Given the description of an element on the screen output the (x, y) to click on. 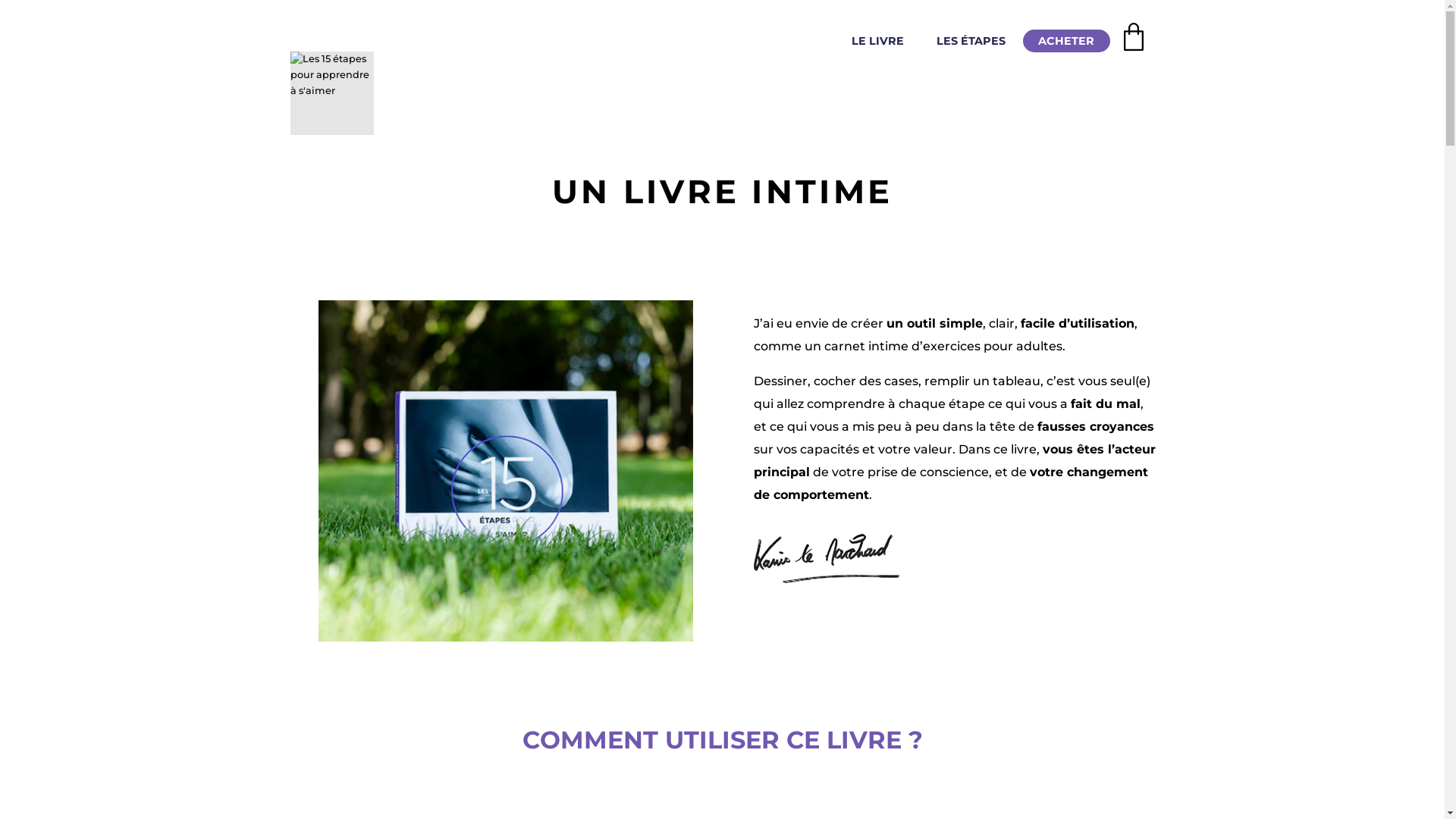
ACHETER Element type: text (1065, 40)
LE LIVRE Element type: text (876, 40)
